Given the description of an element on the screen output the (x, y) to click on. 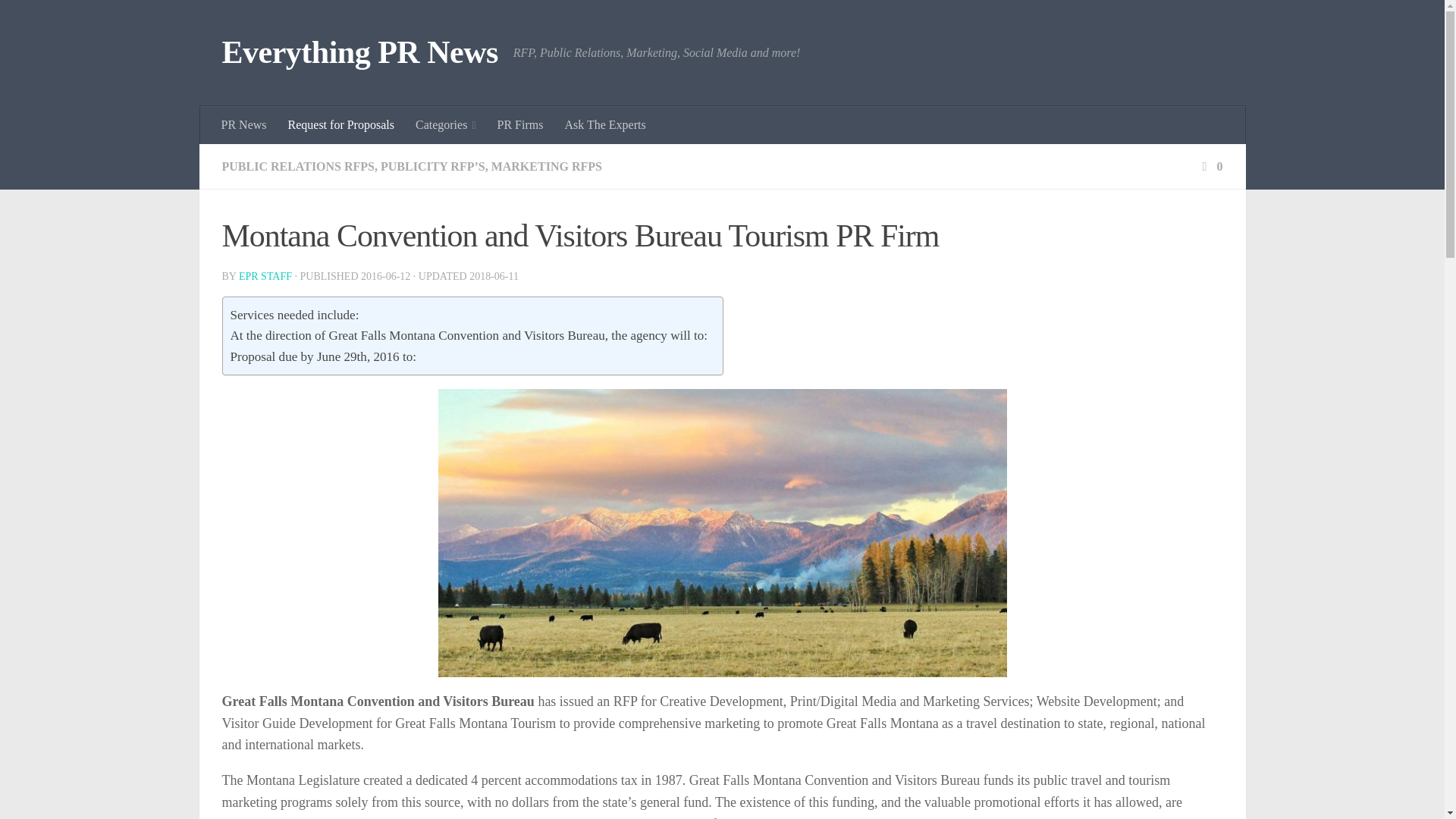
Posts by EPR Staff (265, 276)
PR News (244, 125)
Proposal due by June 29th, 2016 to: (323, 356)
Everything PR News (359, 53)
Request for Proposals (341, 125)
Categories (445, 125)
Skip to content (59, 20)
Services needed include: (294, 314)
